Given the description of an element on the screen output the (x, y) to click on. 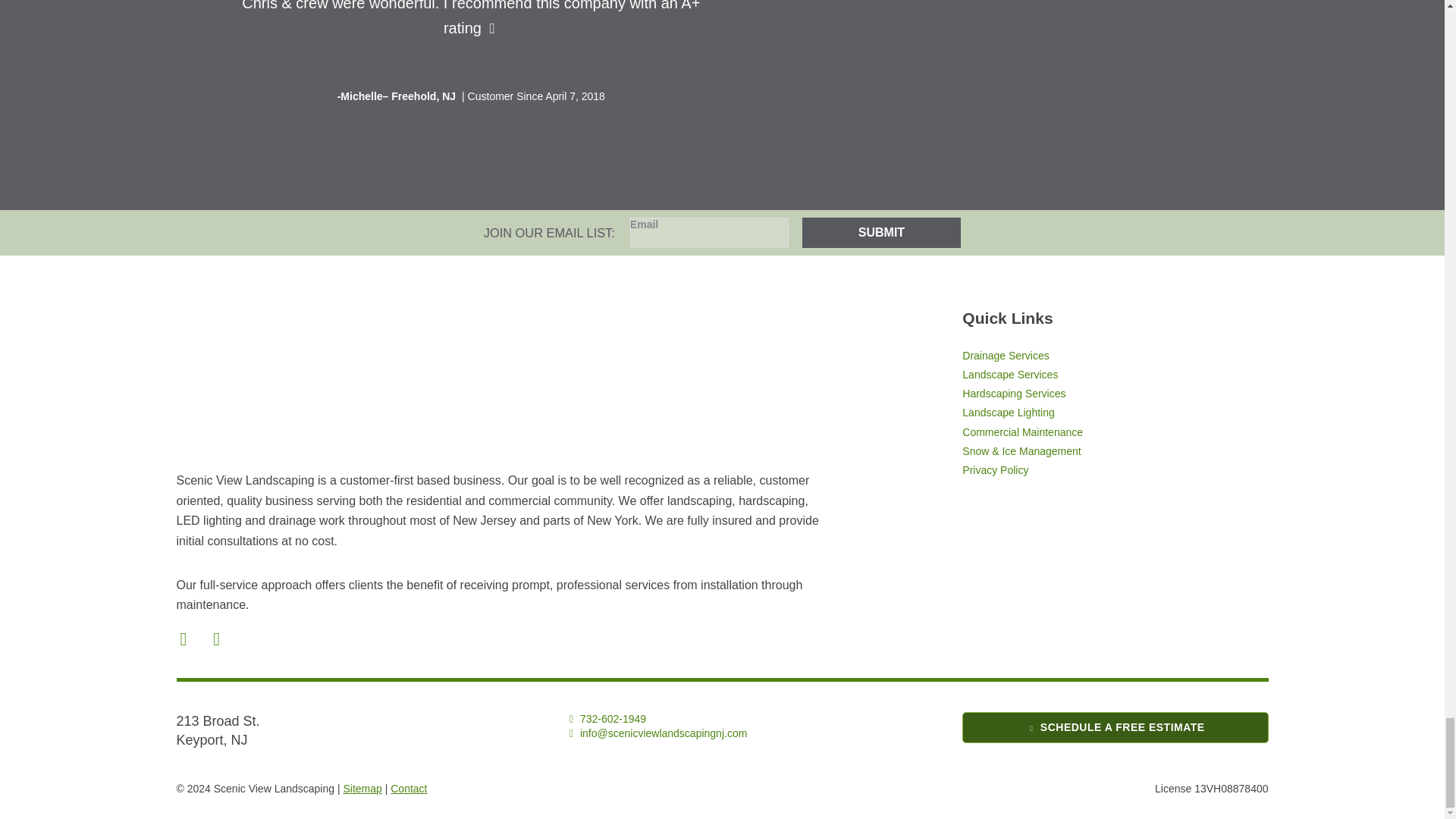
Scenic View Landscaping Instagram (218, 639)
Submit (881, 232)
Scenic View Landscaping Facebook (185, 639)
